Given the description of an element on the screen output the (x, y) to click on. 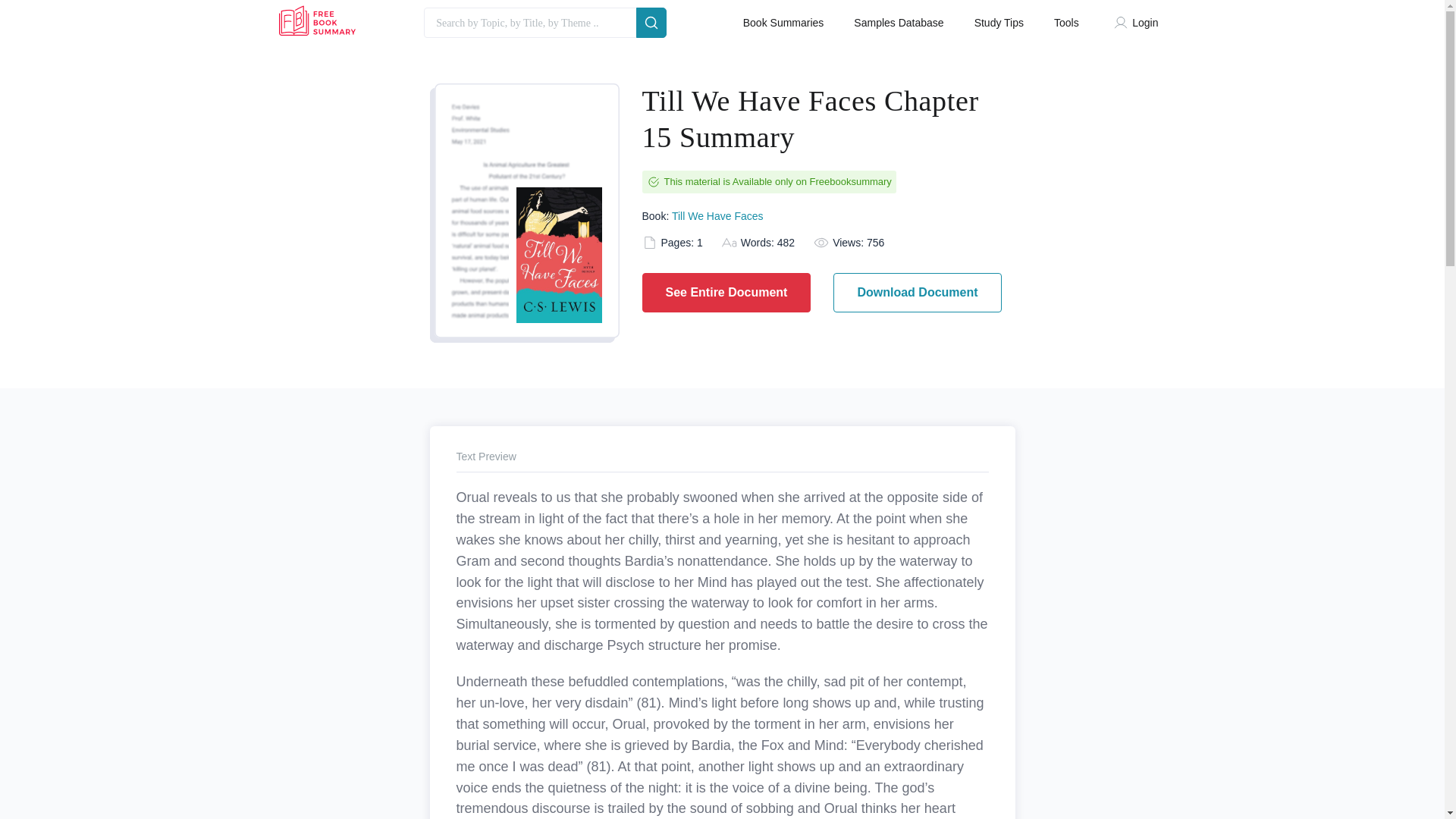
Samples Database (897, 22)
Login (1139, 22)
Till We Have Faces (716, 215)
Study Tips (998, 22)
Book Summaries (783, 22)
